Given the description of an element on the screen output the (x, y) to click on. 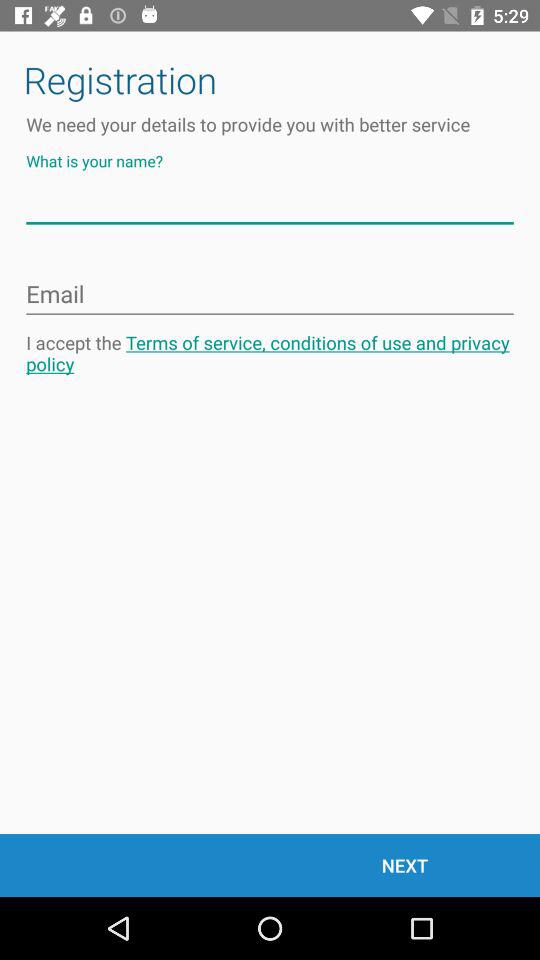
registration my name (270, 203)
